Given the description of an element on the screen output the (x, y) to click on. 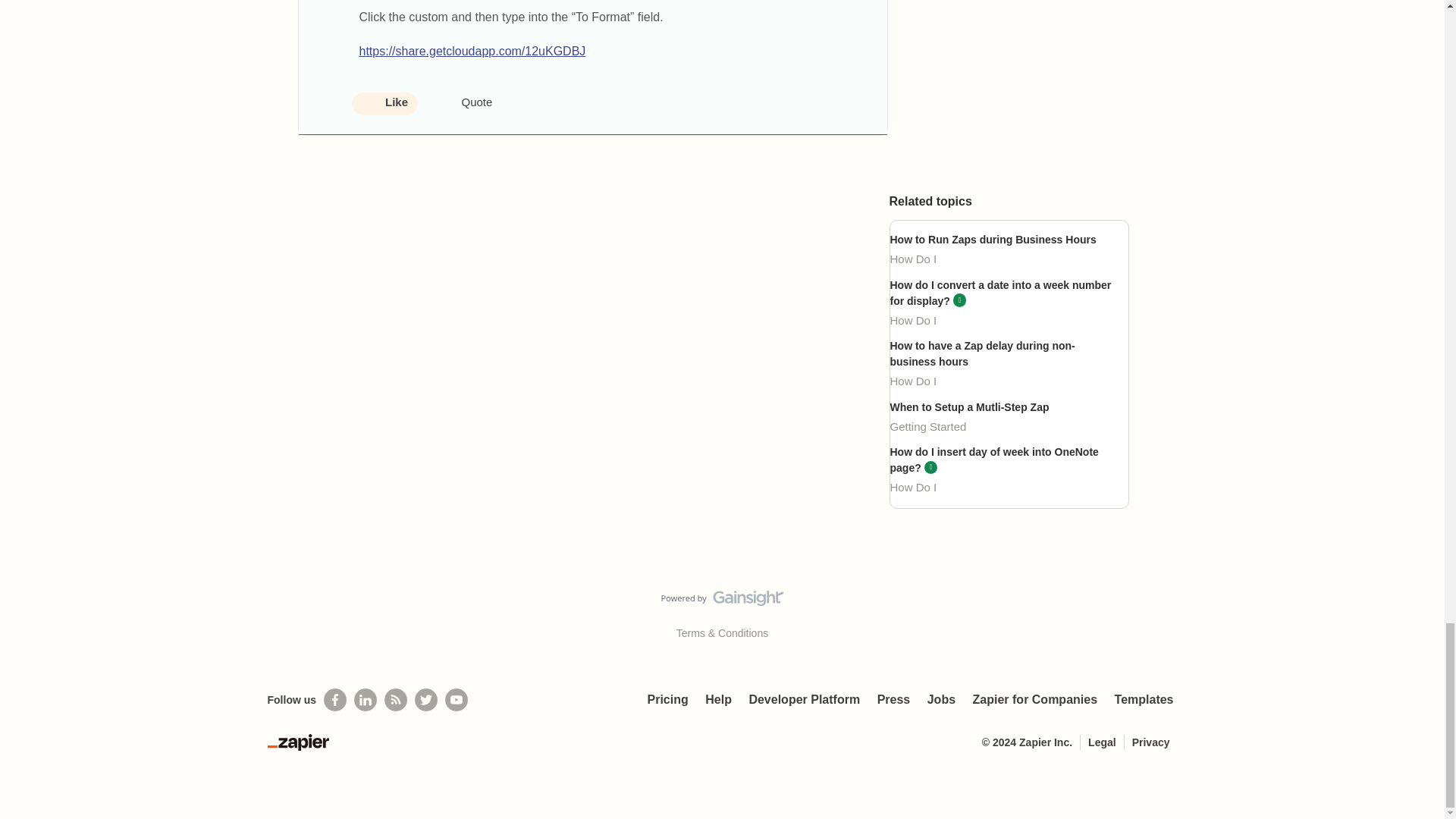
Follow us on LinkedIn (365, 699)
See helpful Zapier videos on Youtube (456, 699)
Subscribe to our blog (395, 699)
Follow us on Facebook (334, 699)
Visit Gainsight.com (722, 601)
